Given the description of an element on the screen output the (x, y) to click on. 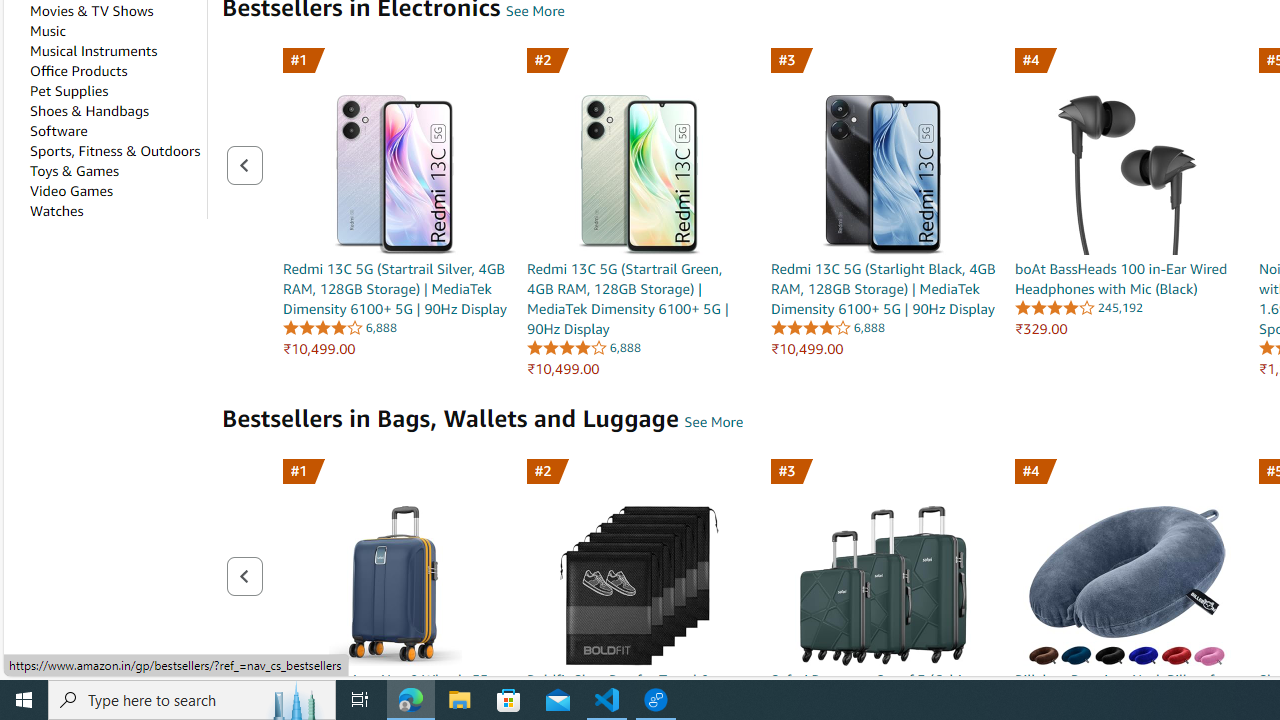
Music (47, 31)
Office Products (78, 70)
Movies & TV Shows (91, 11)
Musical Instruments (93, 50)
Class: a-link-normal (1127, 278)
Sports, Fitness & Outdoors (114, 150)
Bestsellers in Bags, Wallets and Luggage - See More (713, 422)
Previous page (244, 575)
